Given the description of an element on the screen output the (x, y) to click on. 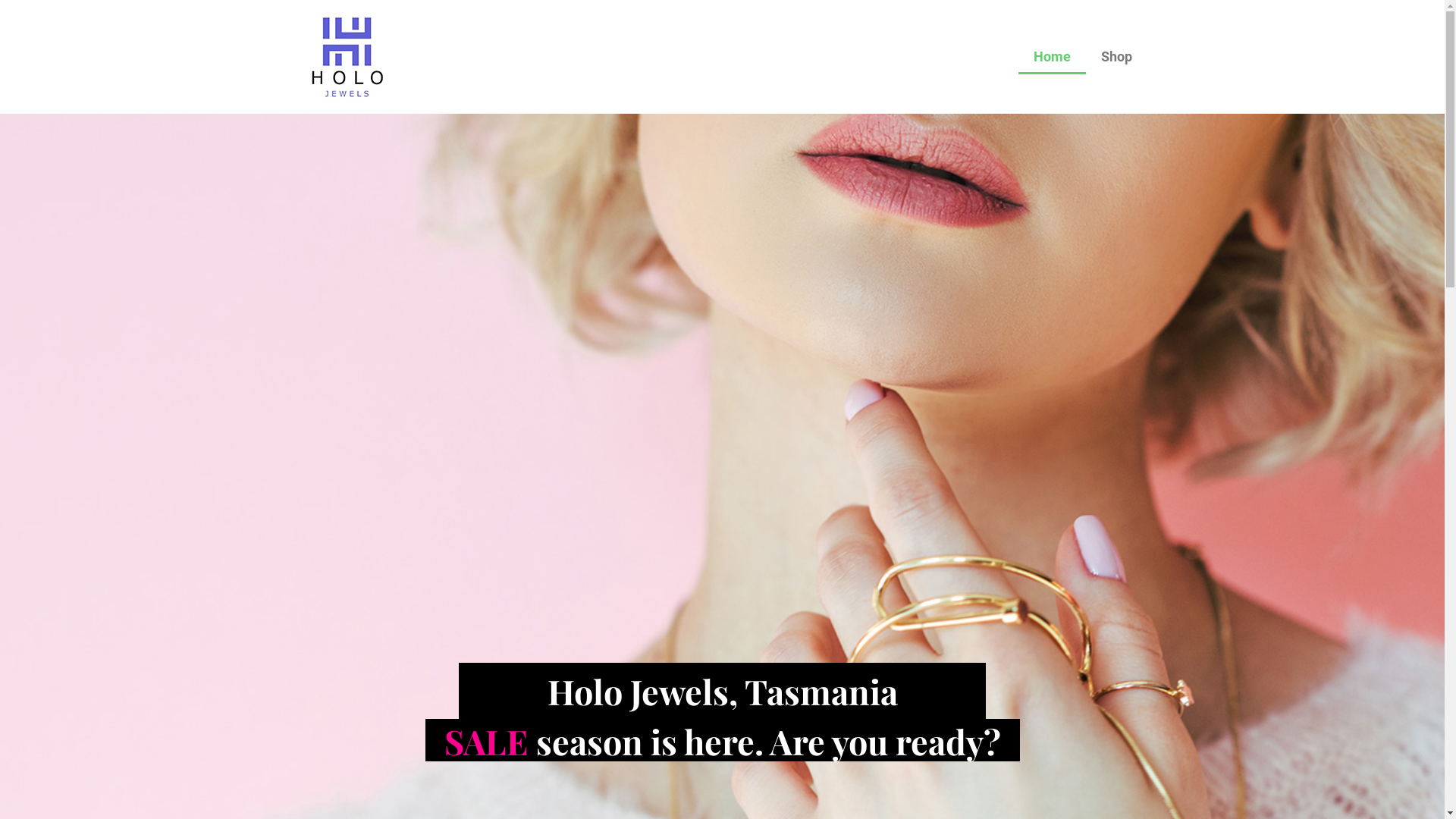
Home Element type: text (1051, 56)
Shop Element type: text (1116, 56)
